Given the description of an element on the screen output the (x, y) to click on. 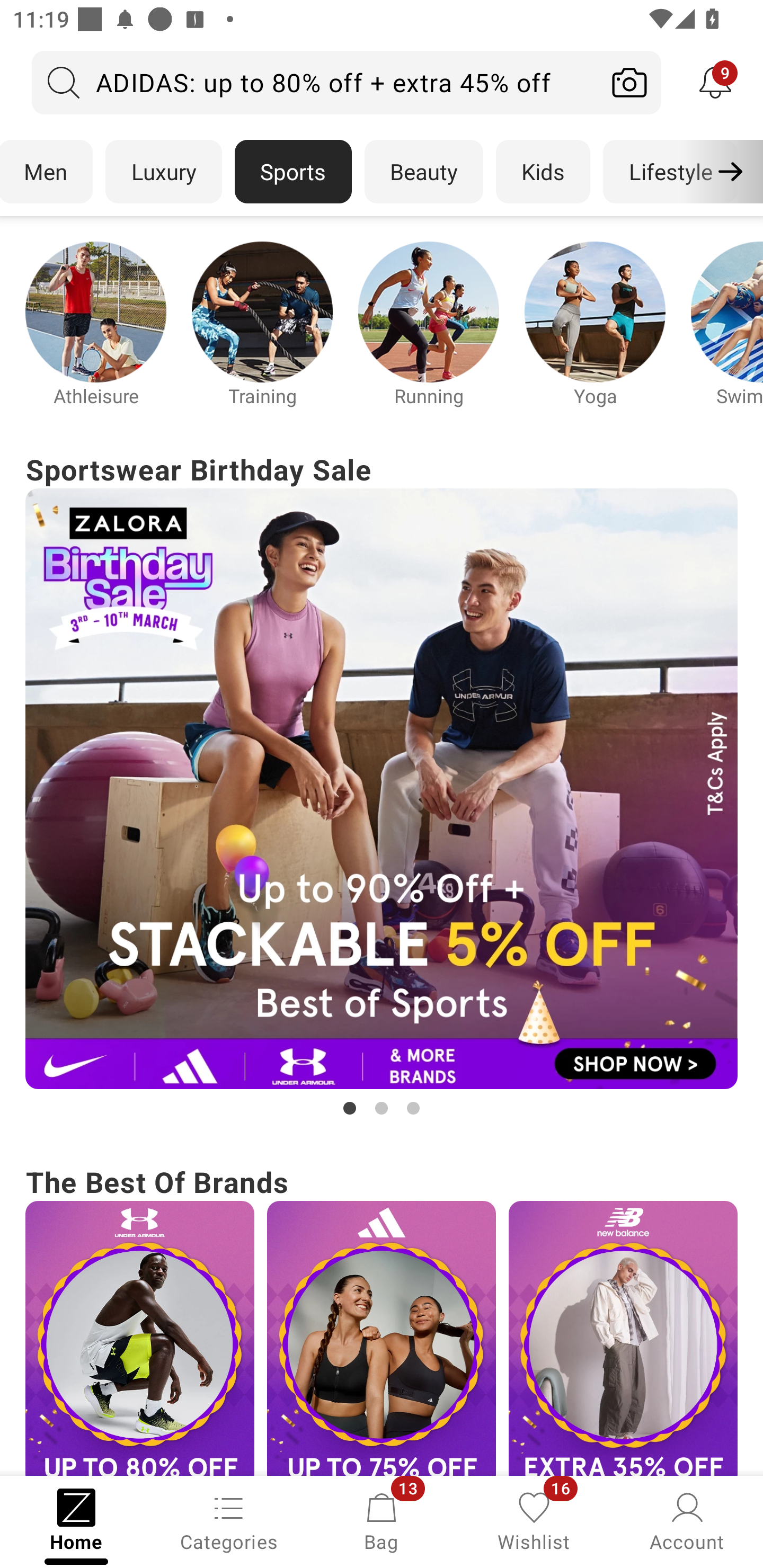
ADIDAS: up to 80% off + extra 45% off (314, 82)
Men (46, 171)
Luxury (163, 171)
Sports (293, 171)
Beauty (423, 171)
Kids (542, 171)
Lifestyle (669, 171)
Campaign banner (95, 311)
Campaign banner (261, 311)
Campaign banner (428, 311)
Campaign banner (594, 311)
Sportswear Birthday Sale  Campaign banner (381, 783)
Campaign banner (381, 788)
Campaign banner (139, 1338)
Campaign banner (381, 1338)
Campaign banner (622, 1338)
Categories (228, 1519)
Bag, 13 new notifications Bag (381, 1519)
Wishlist, 16 new notifications Wishlist (533, 1519)
Account (686, 1519)
